Given the description of an element on the screen output the (x, y) to click on. 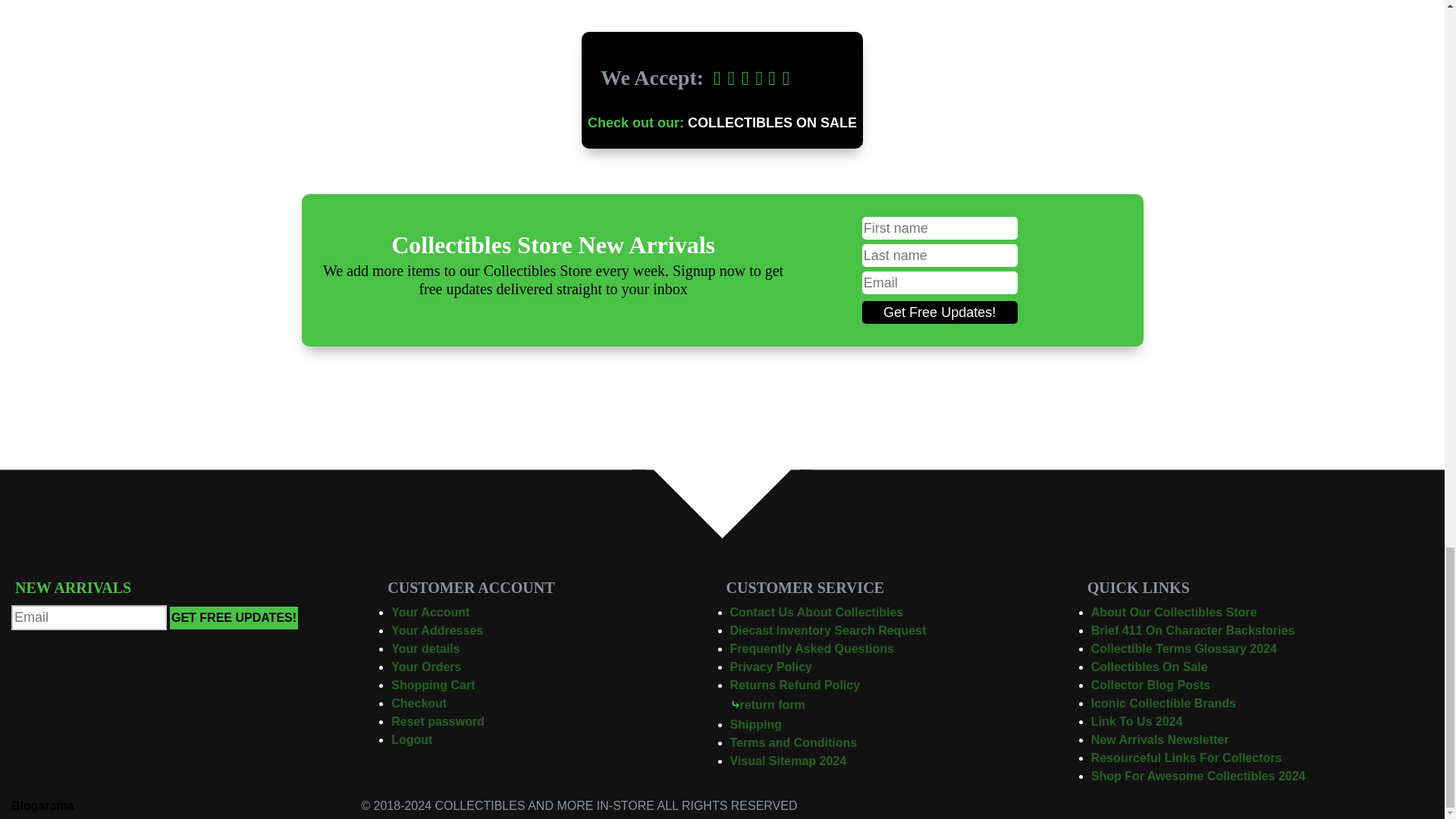
GET FREE UPDATES! (234, 617)
Get Free Updates! (939, 312)
